Given the description of an element on the screen output the (x, y) to click on. 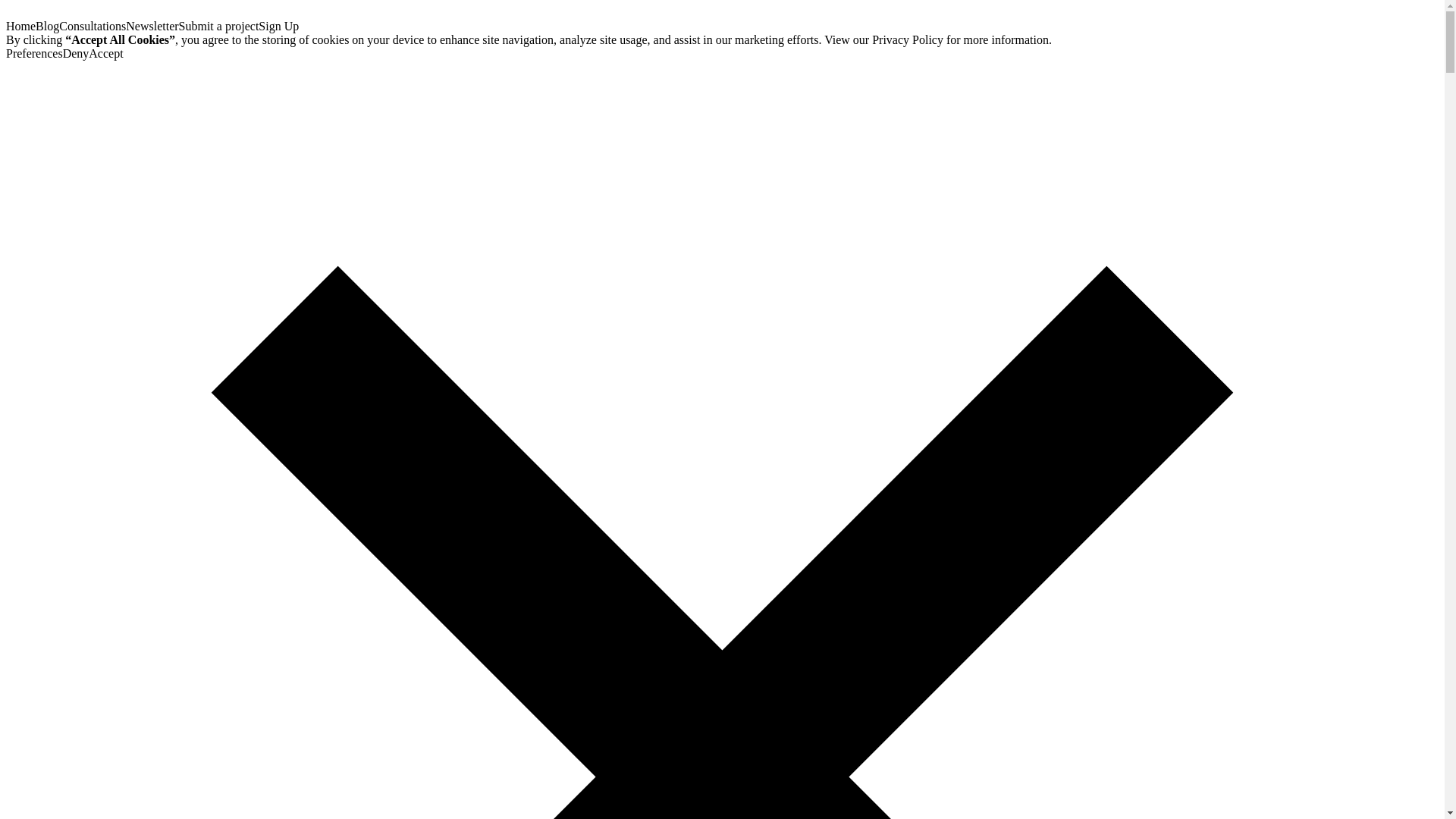
Blog (46, 25)
Preferences (33, 52)
Accept (105, 52)
Newsletter (151, 25)
Sign Up (278, 25)
Privacy Policy (907, 39)
Consultations (92, 25)
Deny (75, 52)
Submit a project (219, 25)
Home (19, 25)
